Given the description of an element on the screen output the (x, y) to click on. 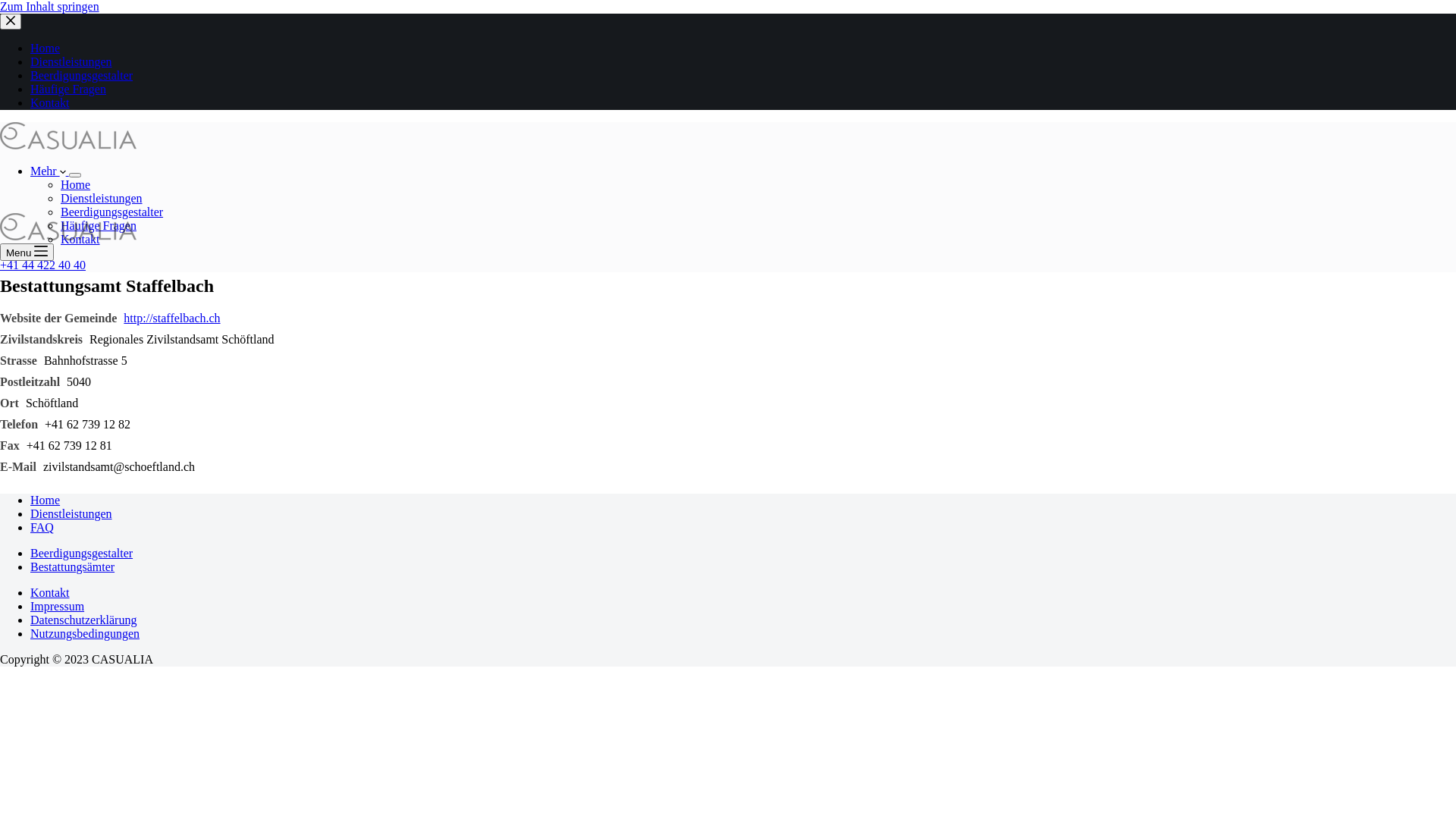
Mehr Element type: text (49, 170)
Home Element type: text (75, 184)
Home Element type: text (44, 499)
http://staffelbach.ch Element type: text (171, 317)
Impressum Element type: text (57, 605)
Kontakt Element type: text (49, 102)
Kontakt Element type: text (80, 238)
Dienstleistungen Element type: text (71, 513)
Dienstleistungen Element type: text (101, 197)
Nutzungsbedingungen Element type: text (84, 633)
Zum Inhalt springen Element type: text (49, 6)
Home Element type: text (44, 47)
+41 44 422 40 40 Element type: text (42, 264)
FAQ Element type: text (41, 526)
Kontakt Element type: text (49, 592)
Menu Element type: text (26, 251)
Dienstleistungen Element type: text (71, 61)
